Given the description of an element on the screen output the (x, y) to click on. 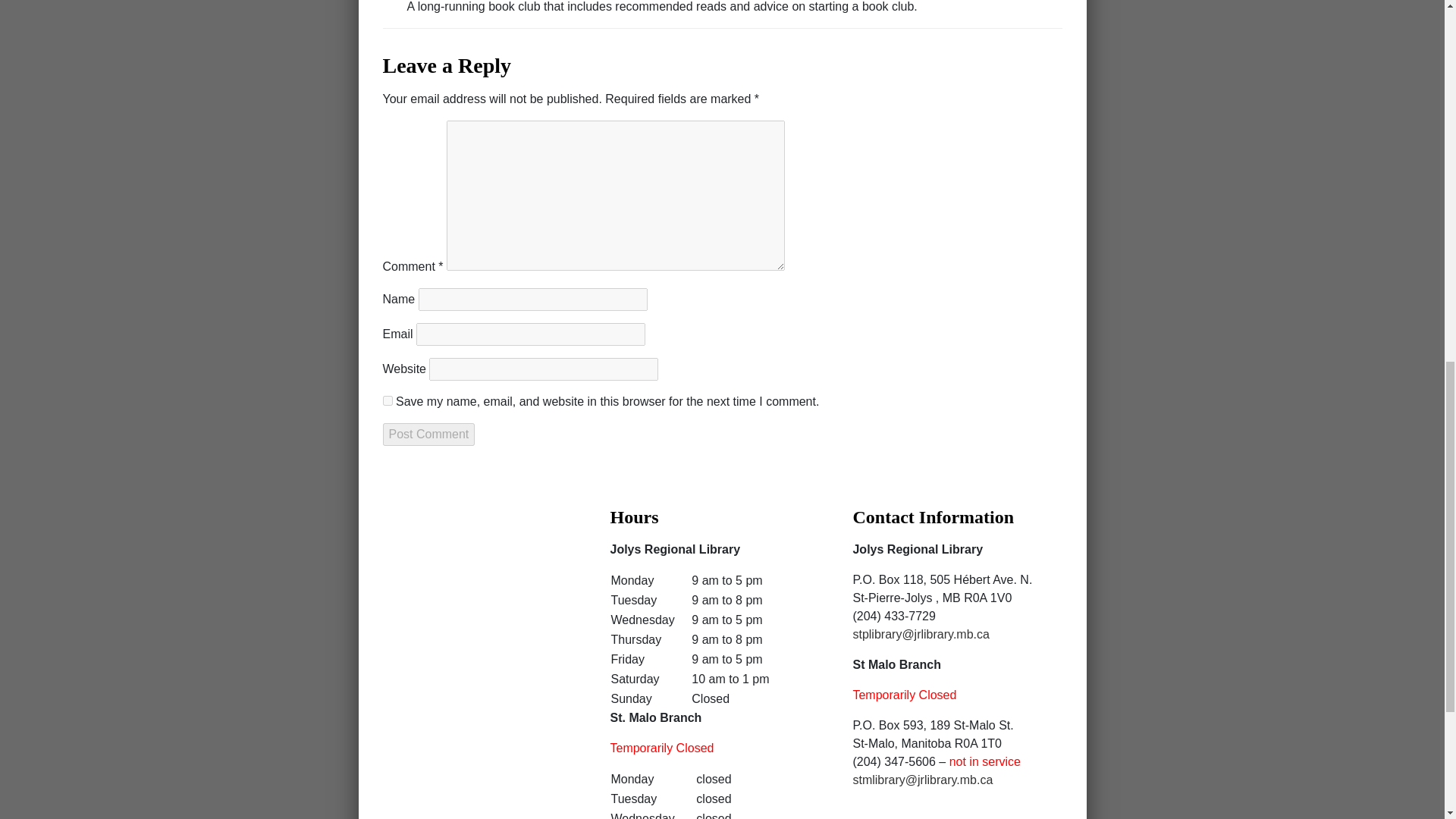
Google Maps (478, 607)
yes (386, 400)
Post Comment (427, 434)
